Given the description of an element on the screen output the (x, y) to click on. 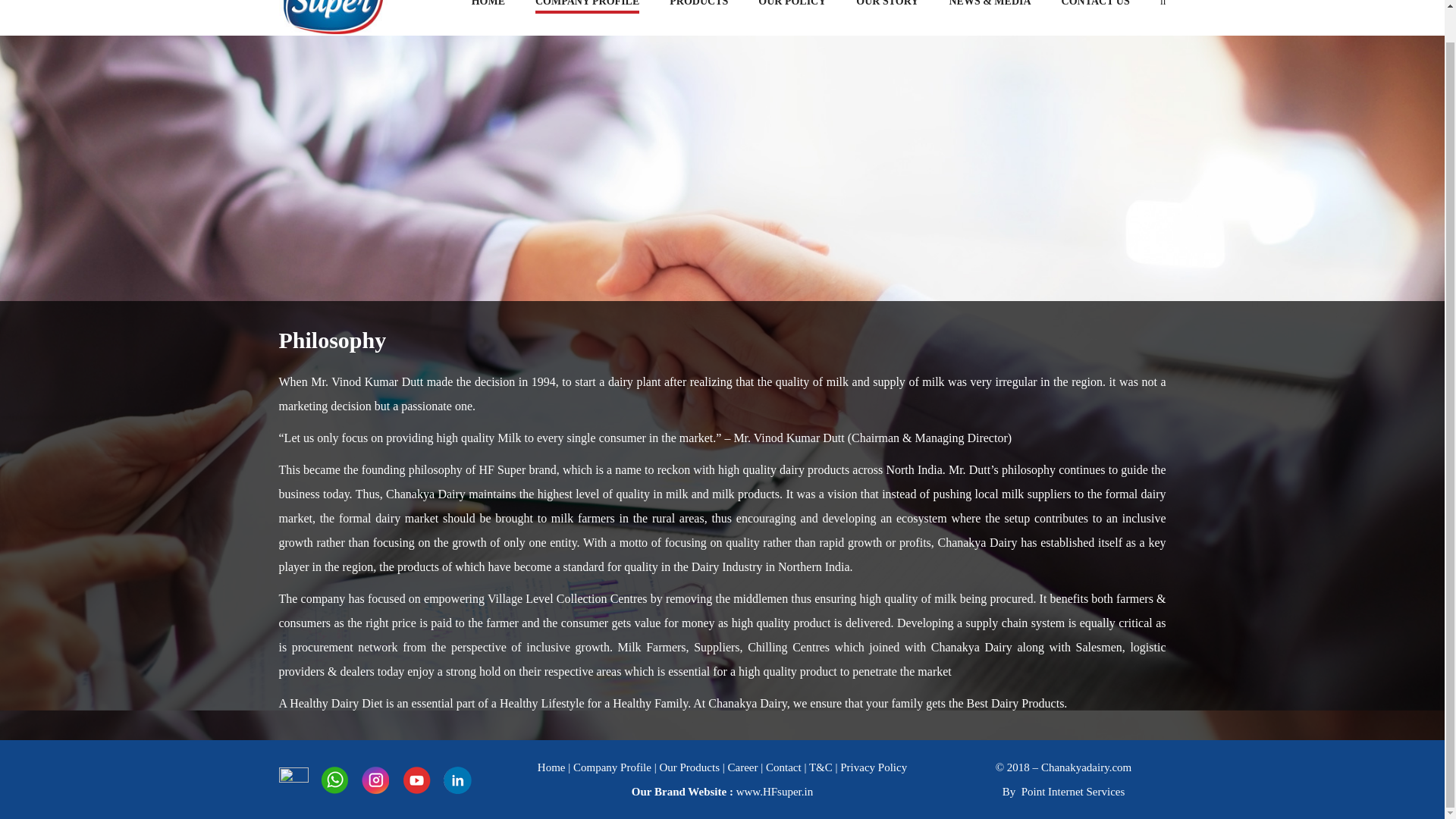
OUR POLICY (791, 3)
PRODUCTS (698, 3)
OUR STORY (887, 3)
CONTACT US (1095, 3)
COMPANY PROFILE (587, 3)
HOME (488, 3)
